Given the description of an element on the screen output the (x, y) to click on. 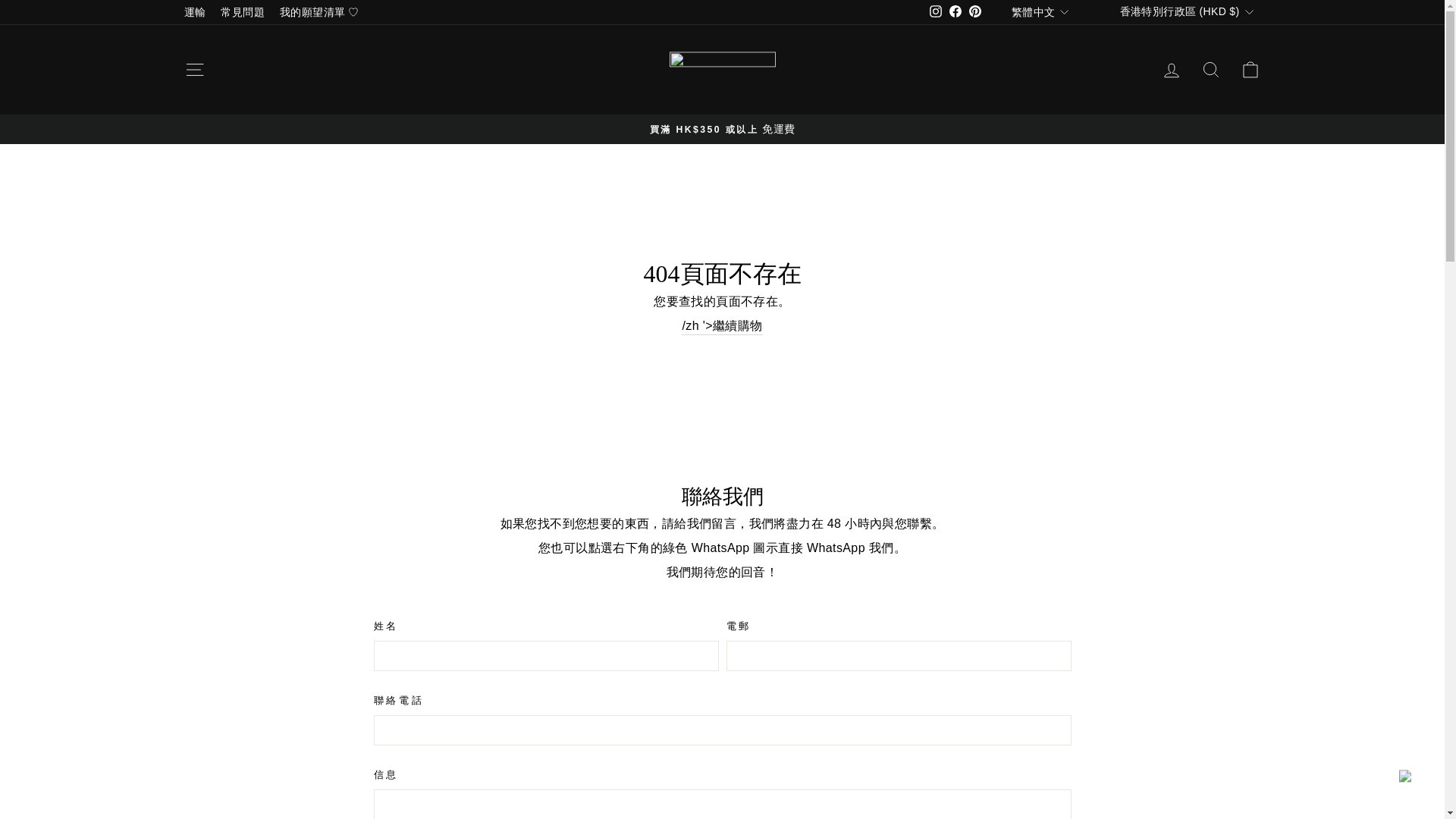
Pinterest (975, 12)
icon-bag-minimal (1249, 69)
instagram (935, 12)
Facebook (936, 10)
icon-search (954, 12)
account (1210, 69)
icon-hamburger (1170, 70)
